Given the description of an element on the screen output the (x, y) to click on. 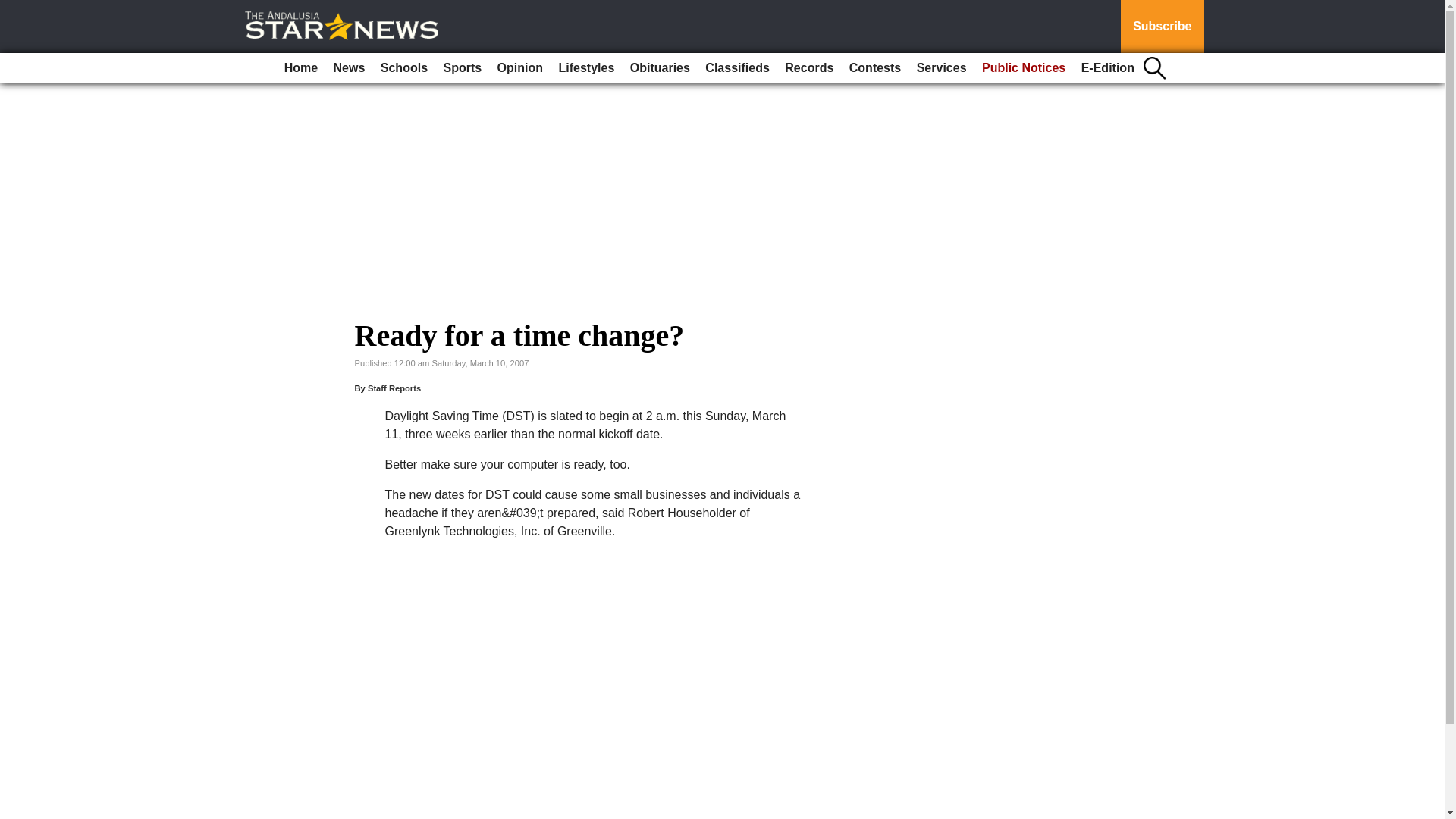
Subscribe (1162, 26)
Records (809, 68)
Classifieds (736, 68)
Sports (461, 68)
Public Notices (1023, 68)
E-Edition (1107, 68)
Lifestyles (585, 68)
News (349, 68)
Contests (875, 68)
Home (300, 68)
